Given the description of an element on the screen output the (x, y) to click on. 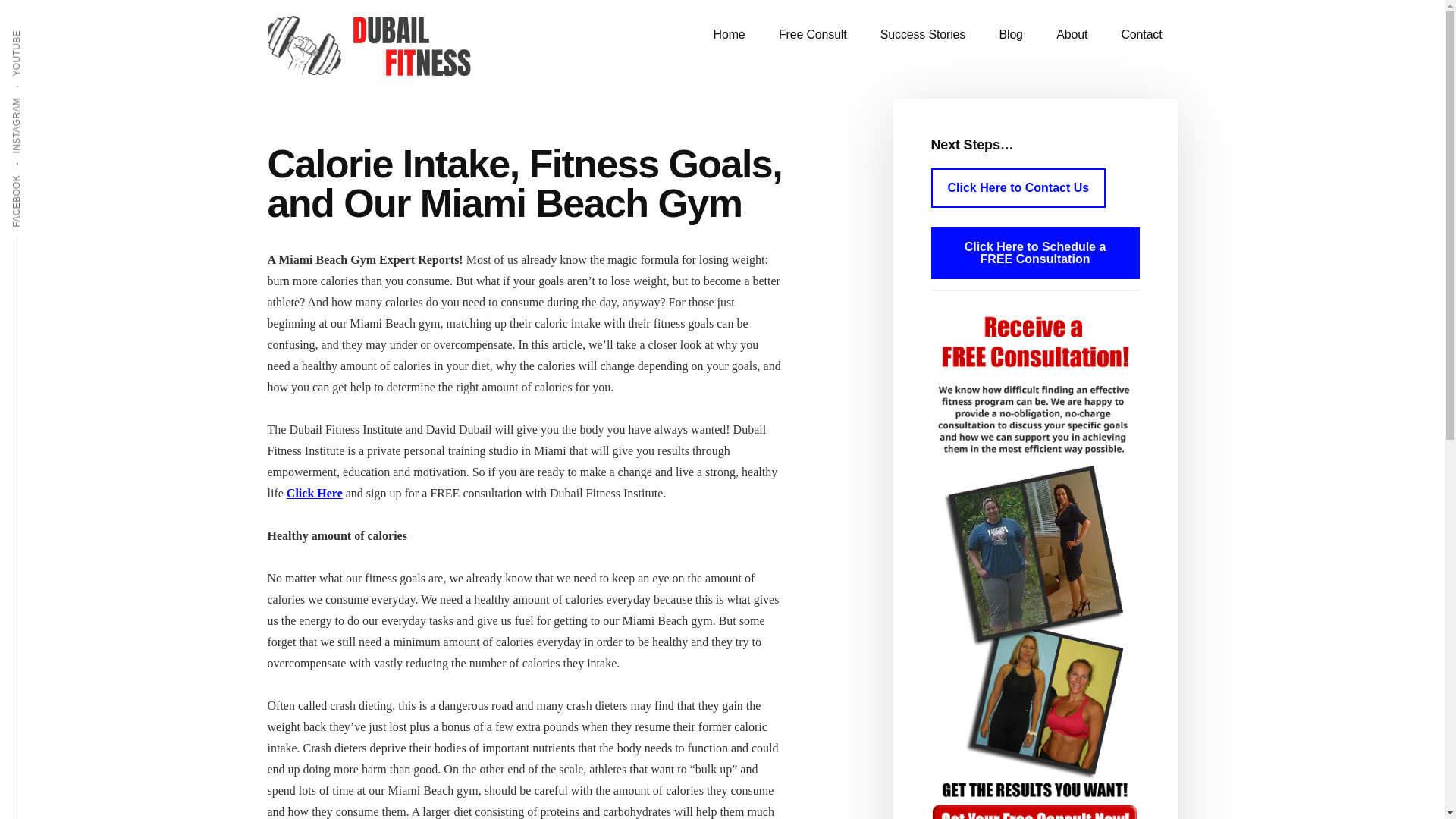
Success Stories (921, 34)
YOUTUBE (41, 28)
Free Consult (811, 34)
Click Here to Contact Us (1018, 188)
Home (729, 34)
FACEBOOK (44, 173)
Click Here (314, 492)
INSTAGRAM (45, 96)
Click Here to Schedule a FREE Consultation (1035, 253)
Elite Miami Personal Training (380, 45)
Blog (1010, 34)
Contact (1140, 34)
About (1071, 34)
